Given the description of an element on the screen output the (x, y) to click on. 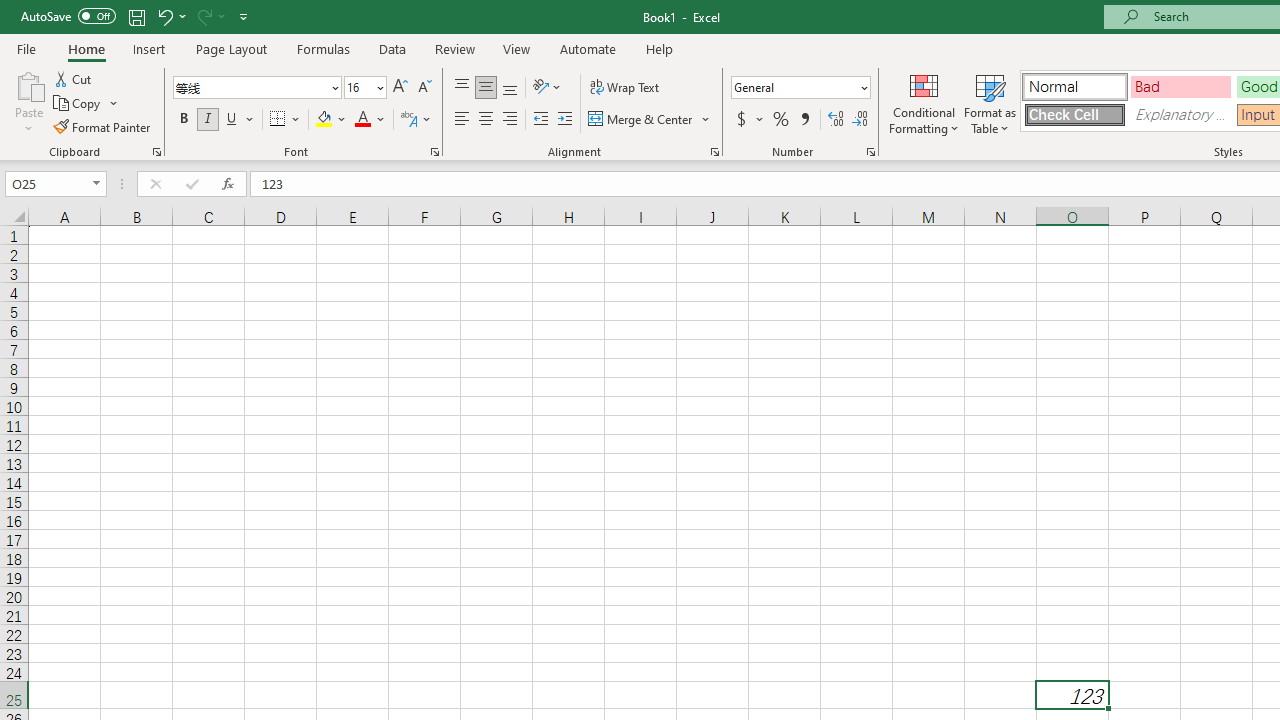
Paste (28, 84)
Undo (170, 15)
Normal (1074, 86)
Comma Style (804, 119)
